Given the description of an element on the screen output the (x, y) to click on. 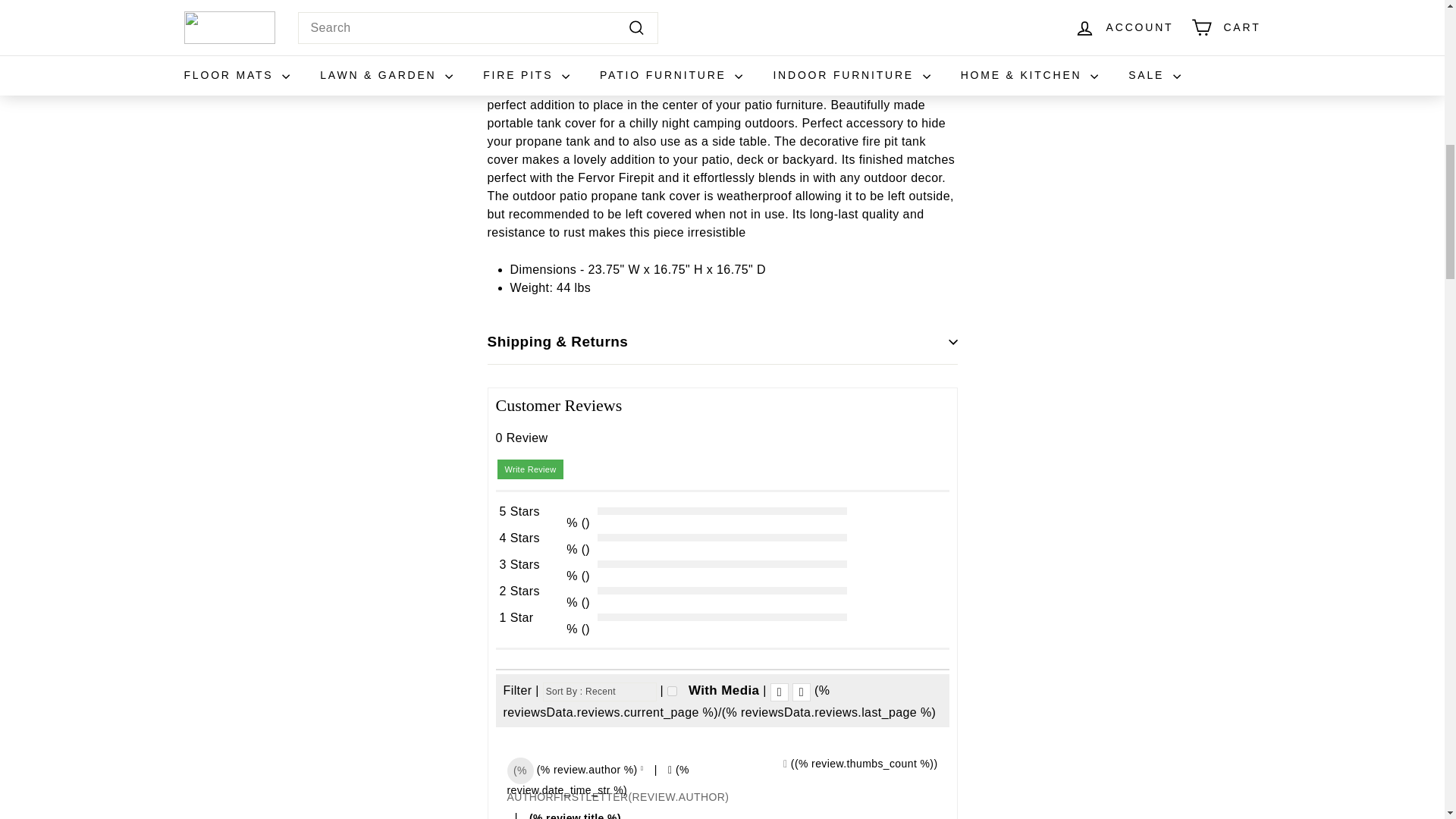
1 (671, 691)
